Given the description of an element on the screen output the (x, y) to click on. 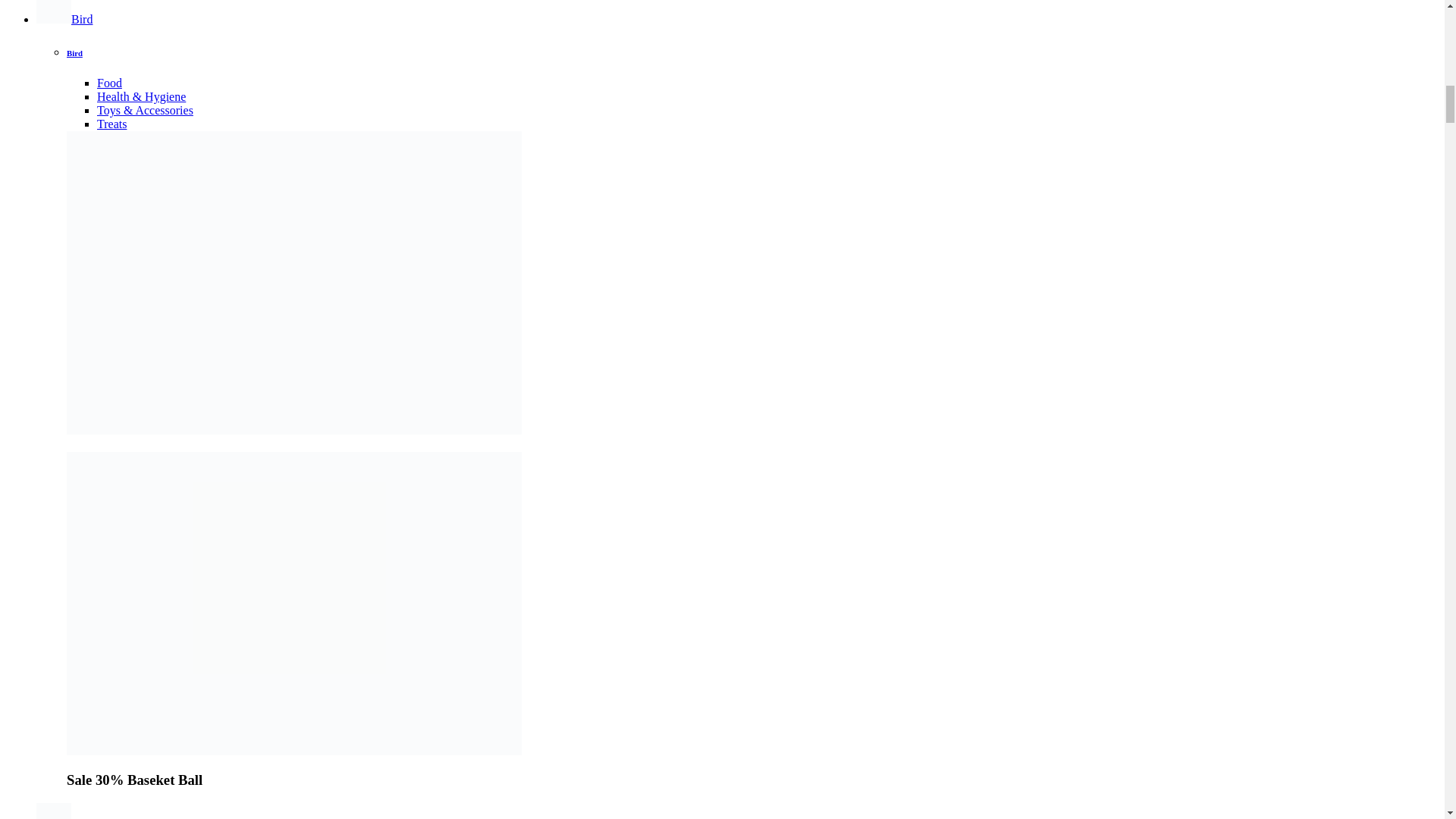
Bird (74, 52)
Treats (111, 123)
Food (109, 82)
Bird (64, 19)
